Given the description of an element on the screen output the (x, y) to click on. 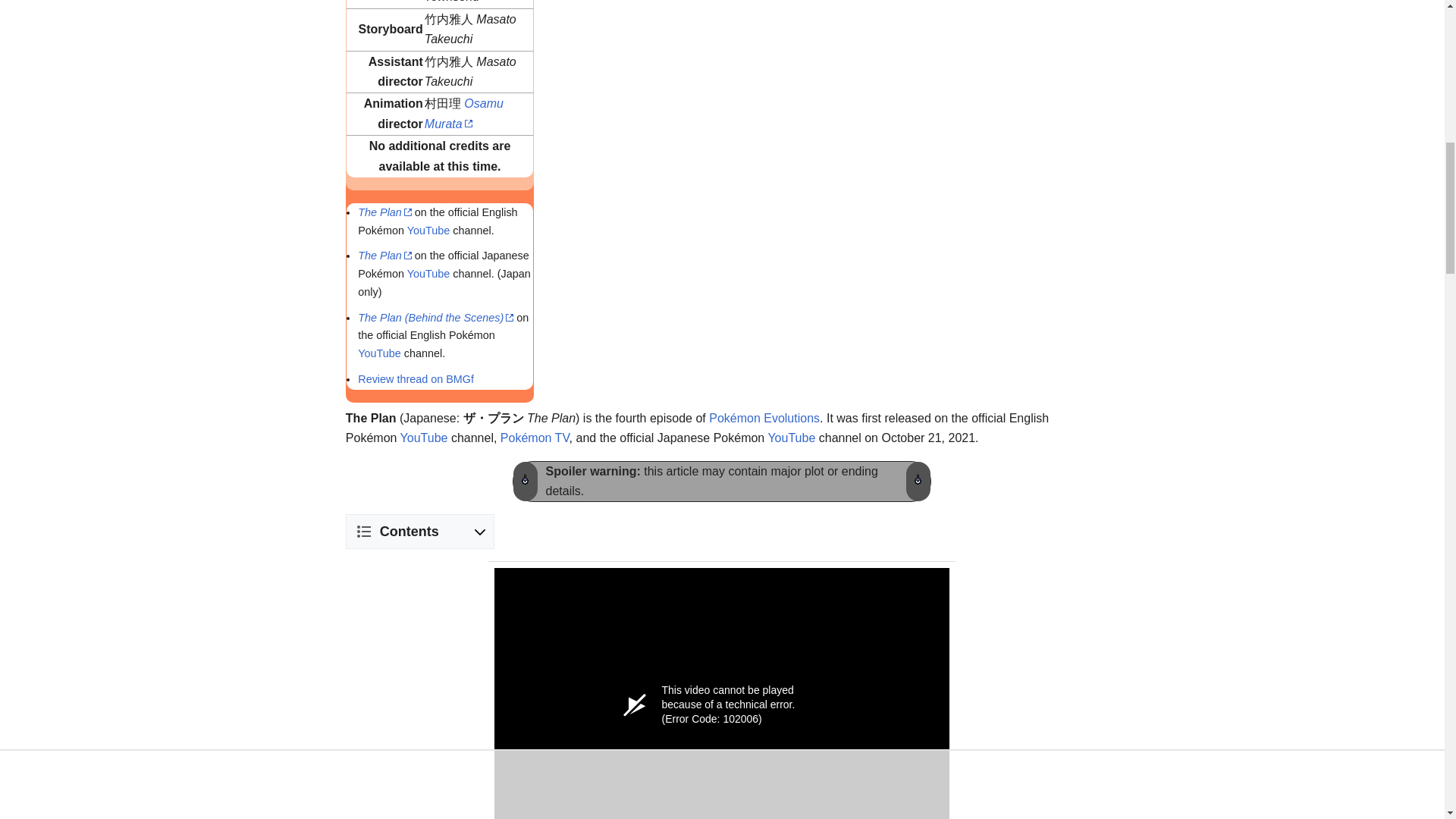
bmgf:289291 (416, 378)
YouTube (428, 230)
YouTube (424, 437)
Osamu Murata (464, 113)
YouTube (428, 230)
YouTube (379, 353)
Review thread on BMGf (416, 378)
The Plan (385, 212)
YouTube (428, 273)
YouTube (428, 273)
YouTube (791, 437)
Spoiler warning: (592, 471)
The Plan (385, 255)
YouTube (379, 353)
